Given the description of an element on the screen output the (x, y) to click on. 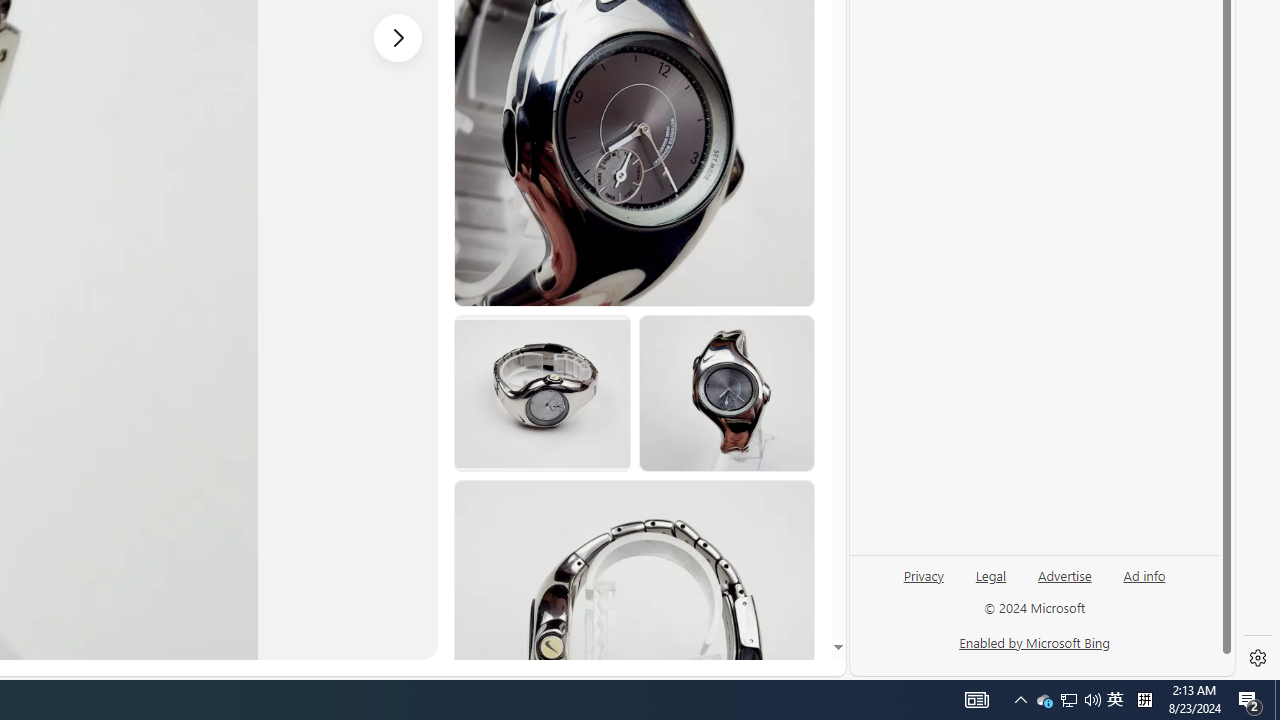
Privacy (923, 583)
Ad info (1144, 574)
Next image - Item images thumbnails (397, 37)
Advertise (1064, 583)
Legal (990, 583)
Advertise (1064, 574)
Legal (991, 574)
Privacy (923, 574)
Ad info (1144, 583)
